Given the description of an element on the screen output the (x, y) to click on. 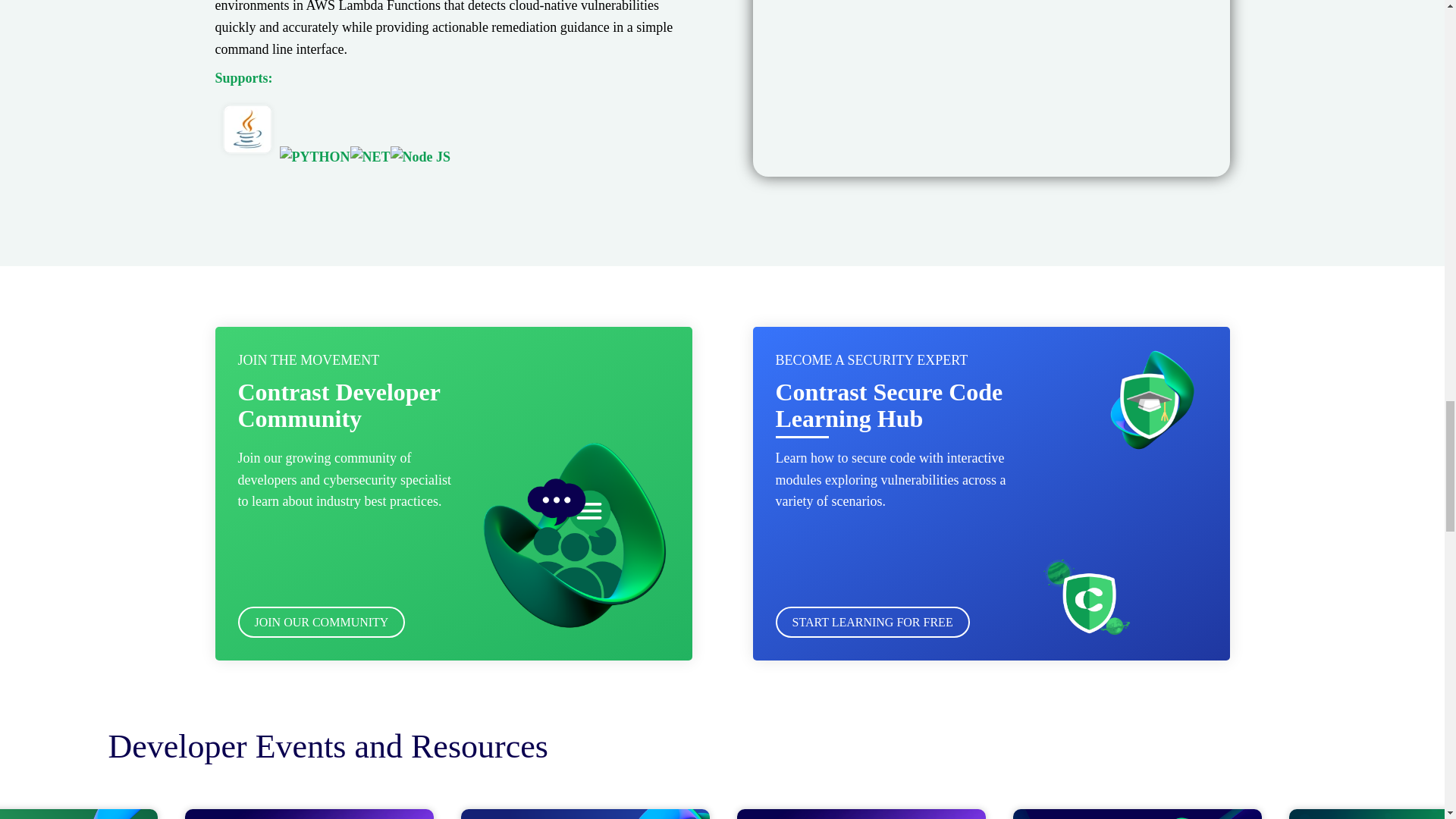
START LEARNING FOR FREE (871, 622)
JOIN OUR COMMUNITY (322, 622)
YouTube video player (990, 88)
JOIN OUR COMMUNITY (322, 622)
